Given the description of an element on the screen output the (x, y) to click on. 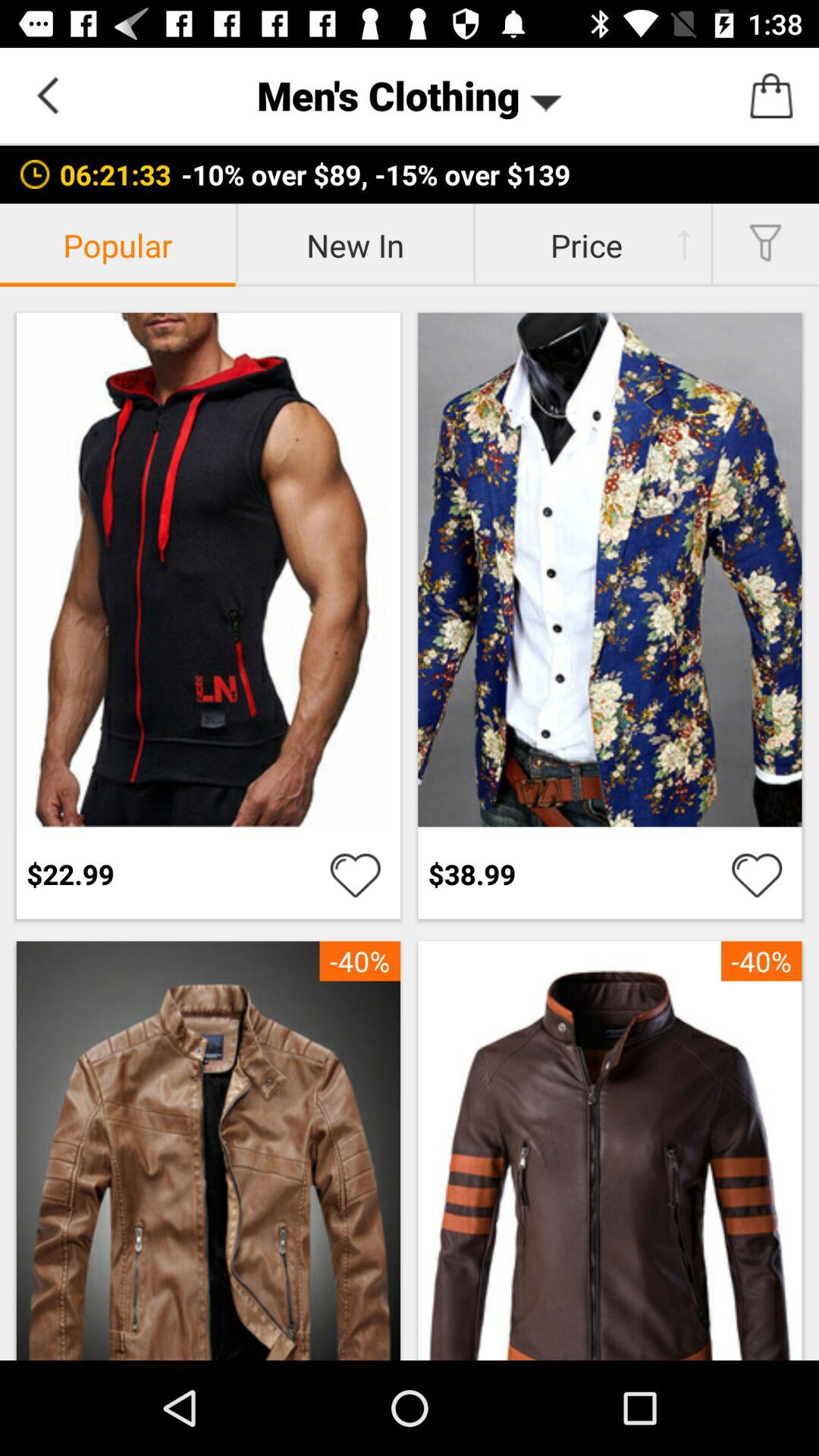
save as favorite (756, 874)
